Given the description of an element on the screen output the (x, y) to click on. 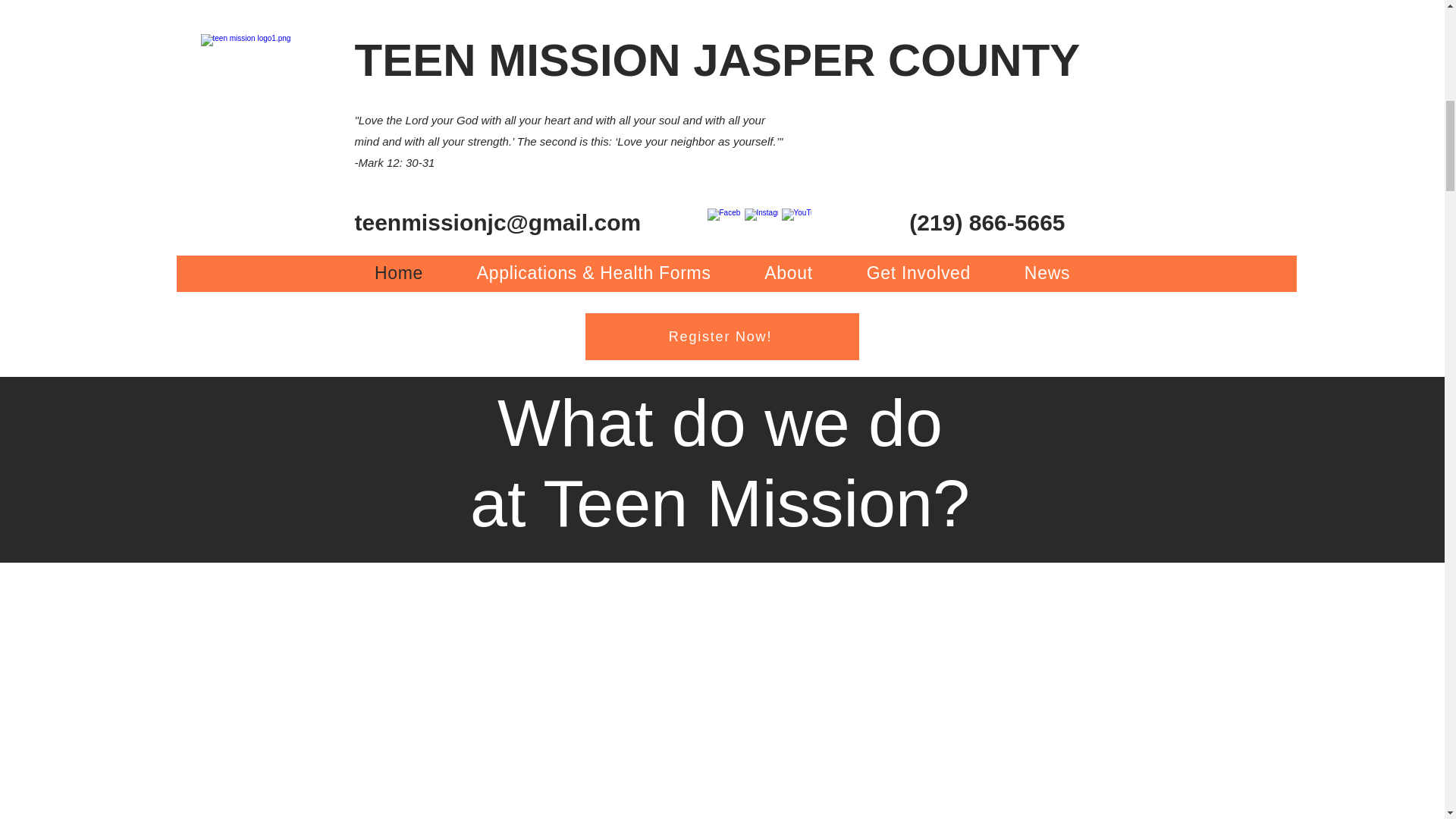
Register Now! (722, 336)
